Given the description of an element on the screen output the (x, y) to click on. 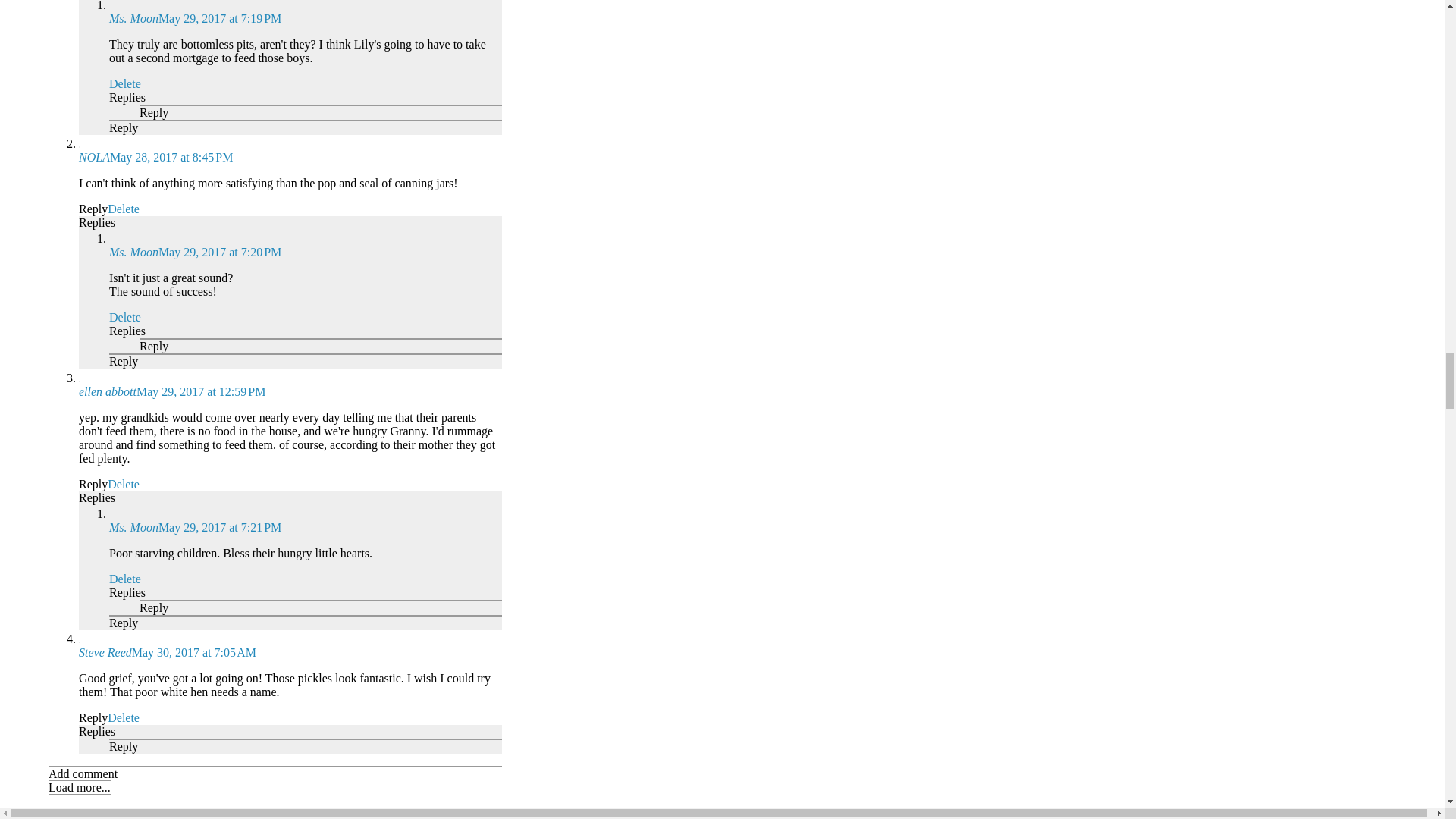
Ms. Moon (133, 251)
NOLA (94, 156)
Replies (96, 222)
Delete (125, 317)
Reply (153, 112)
Reply (123, 127)
Delete (123, 208)
Replies (127, 97)
Replies (127, 330)
Reply (92, 208)
Ms. Moon (133, 18)
Delete (125, 83)
